Given the description of an element on the screen output the (x, y) to click on. 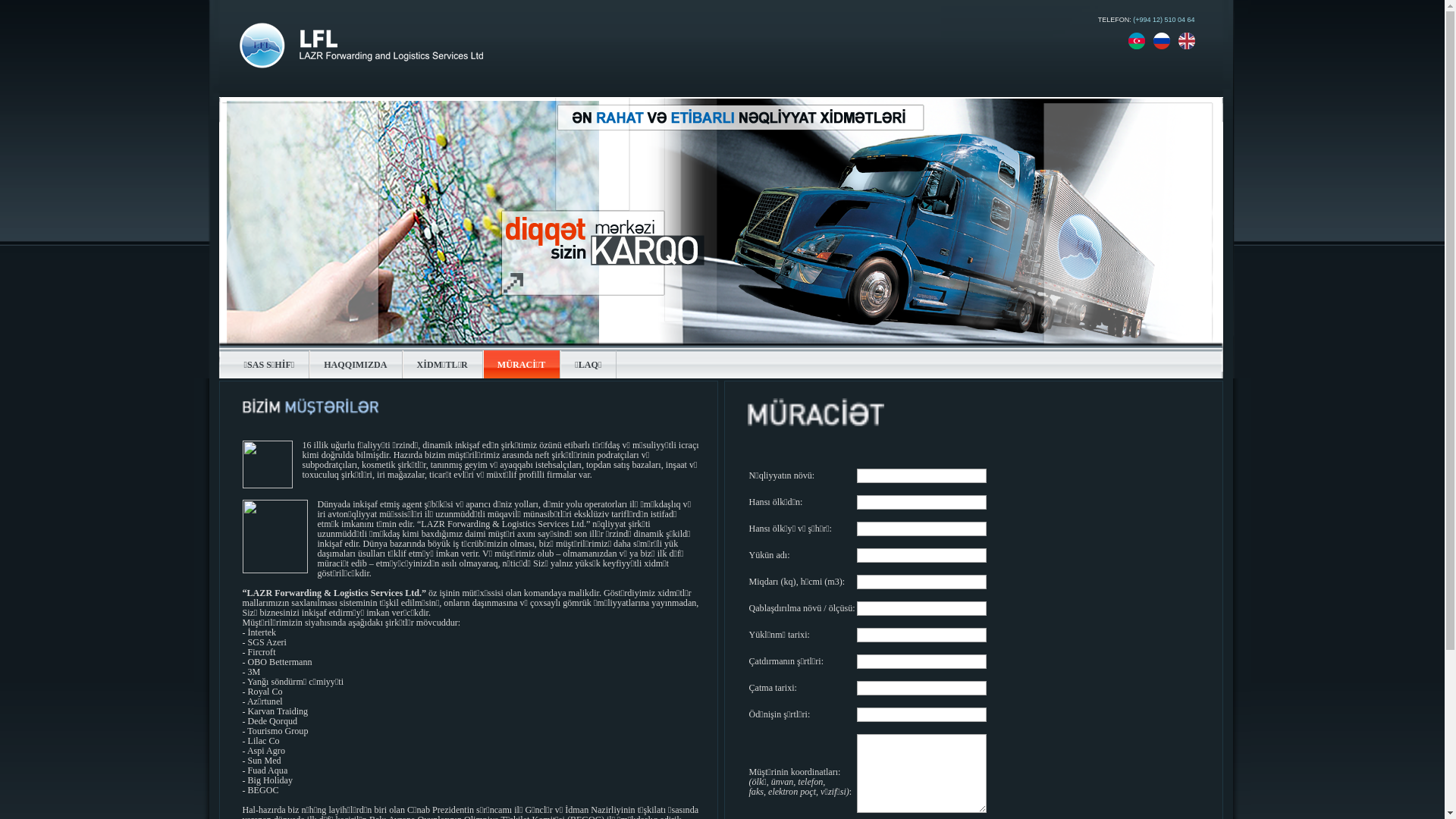
HAQQIMIZDA Element type: text (355, 364)
